Given the description of an element on the screen output the (x, y) to click on. 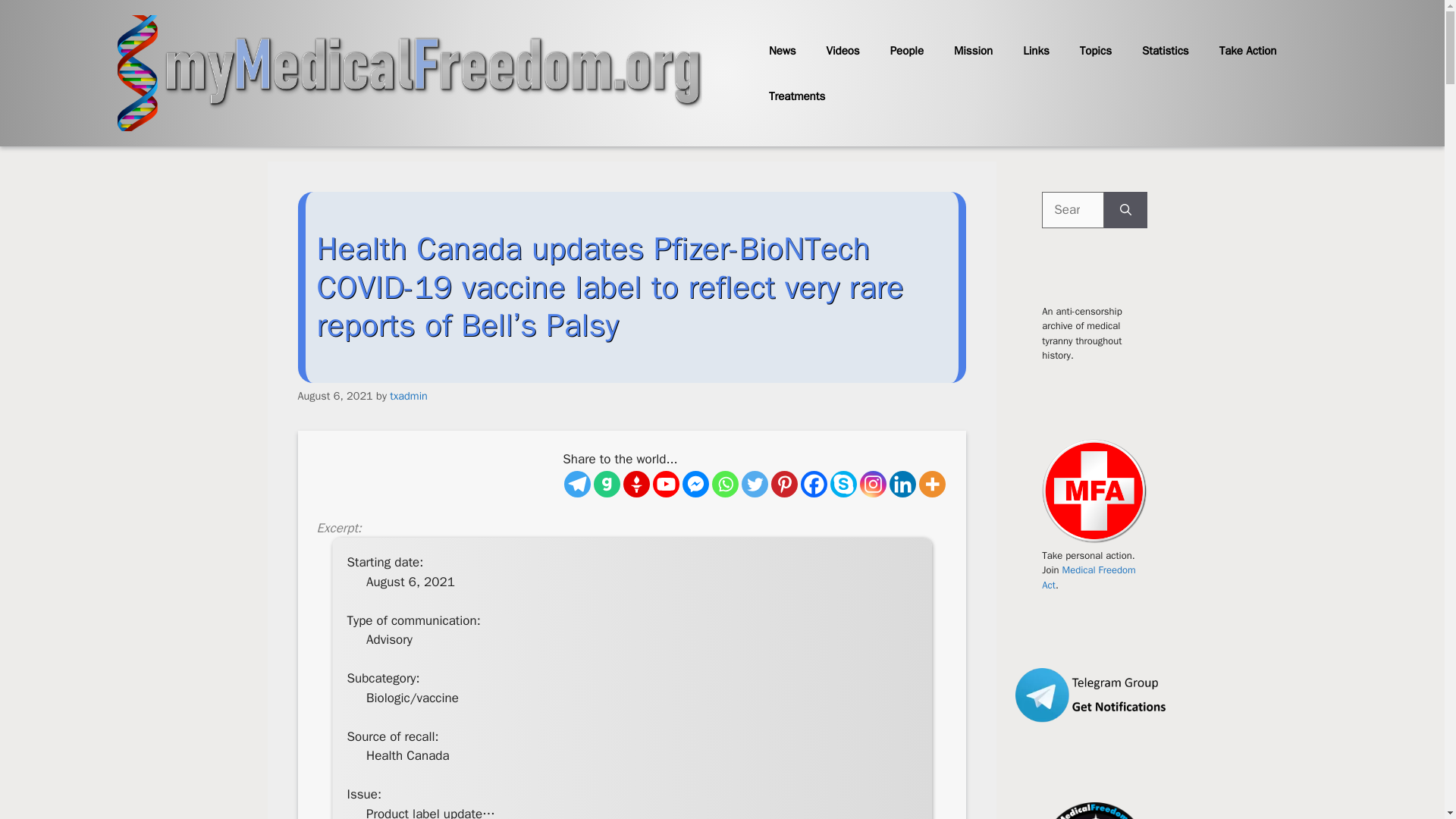
Instagram (873, 483)
txadmin (409, 395)
Youtube (665, 483)
More (931, 483)
Pinterest (784, 483)
Telegram (577, 483)
Linkedin (902, 483)
Treatments (797, 95)
View all posts by txadmin (409, 395)
Gab (607, 483)
